Given the description of an element on the screen output the (x, y) to click on. 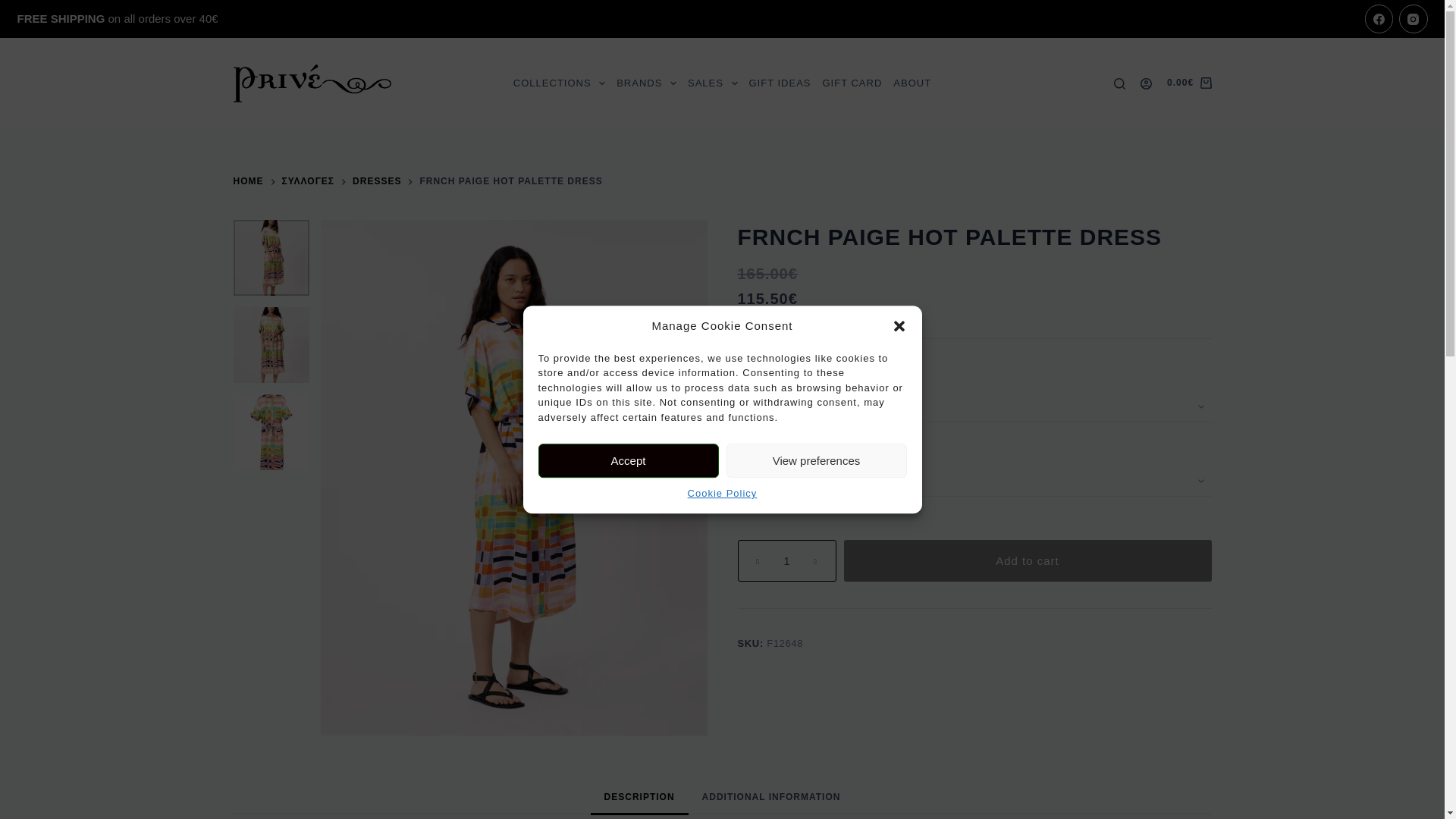
Cookie Policy (722, 493)
View preferences (816, 460)
1 (785, 560)
Skip to content (15, 7)
Accept (628, 460)
